Given the description of an element on the screen output the (x, y) to click on. 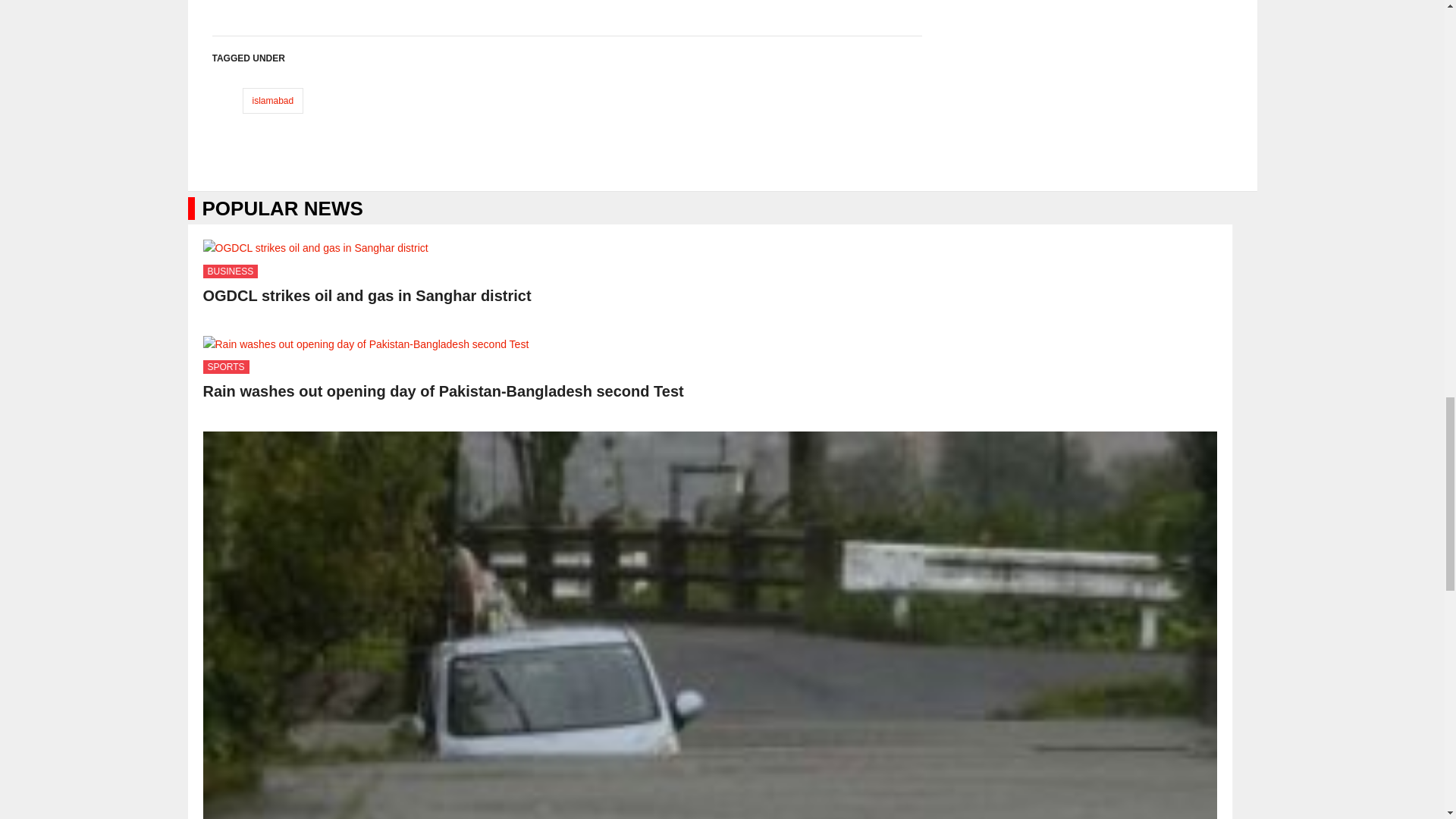
BUSINESS (231, 271)
islamabad (272, 100)
SPORTS (225, 366)
OGDCL strikes oil and gas in Sanghar district (367, 295)
OGDCL strikes oil and gas in Sanghar district (367, 295)
